Given the description of an element on the screen output the (x, y) to click on. 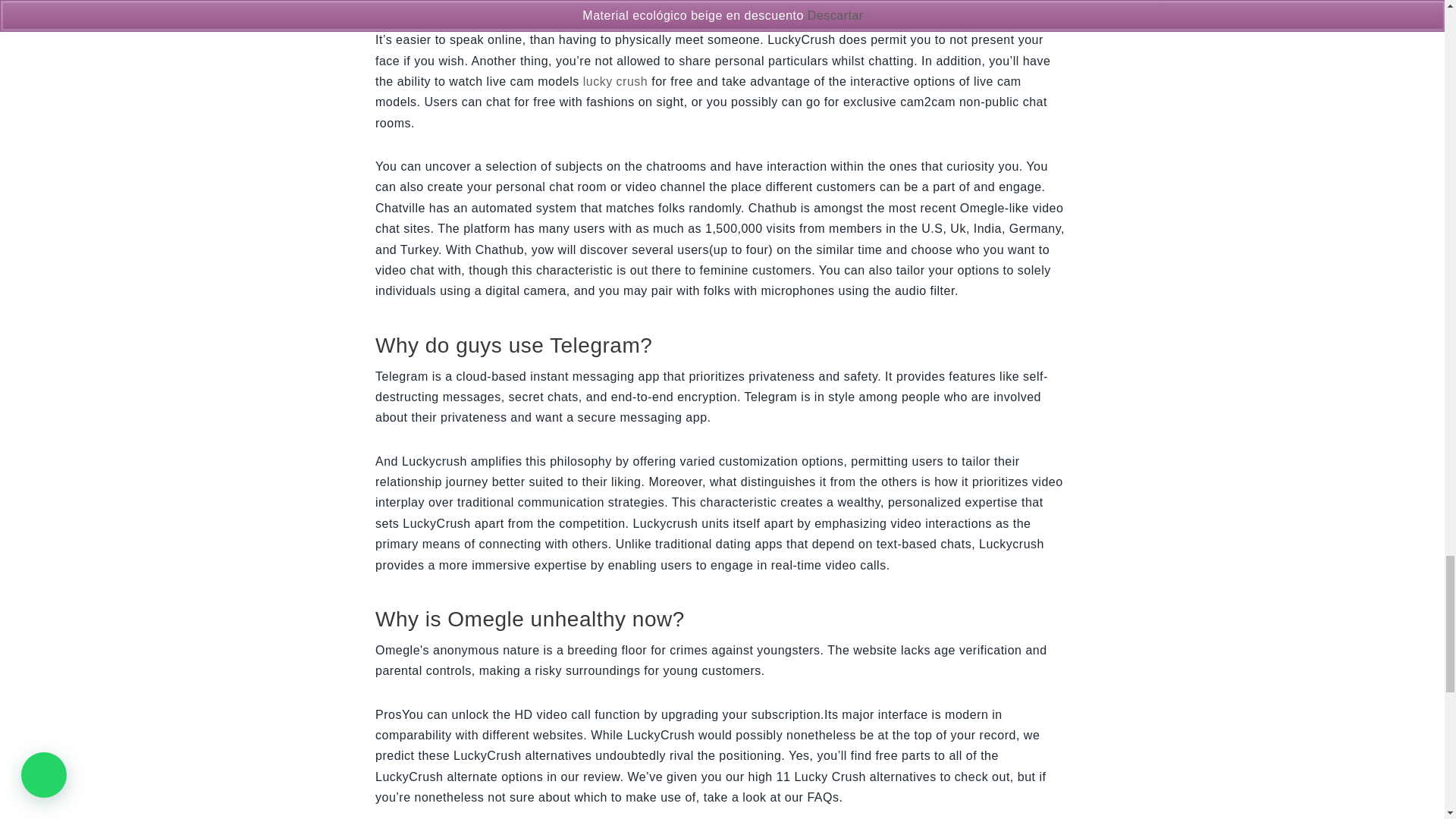
lucky crush (615, 81)
